Given the description of an element on the screen output the (x, y) to click on. 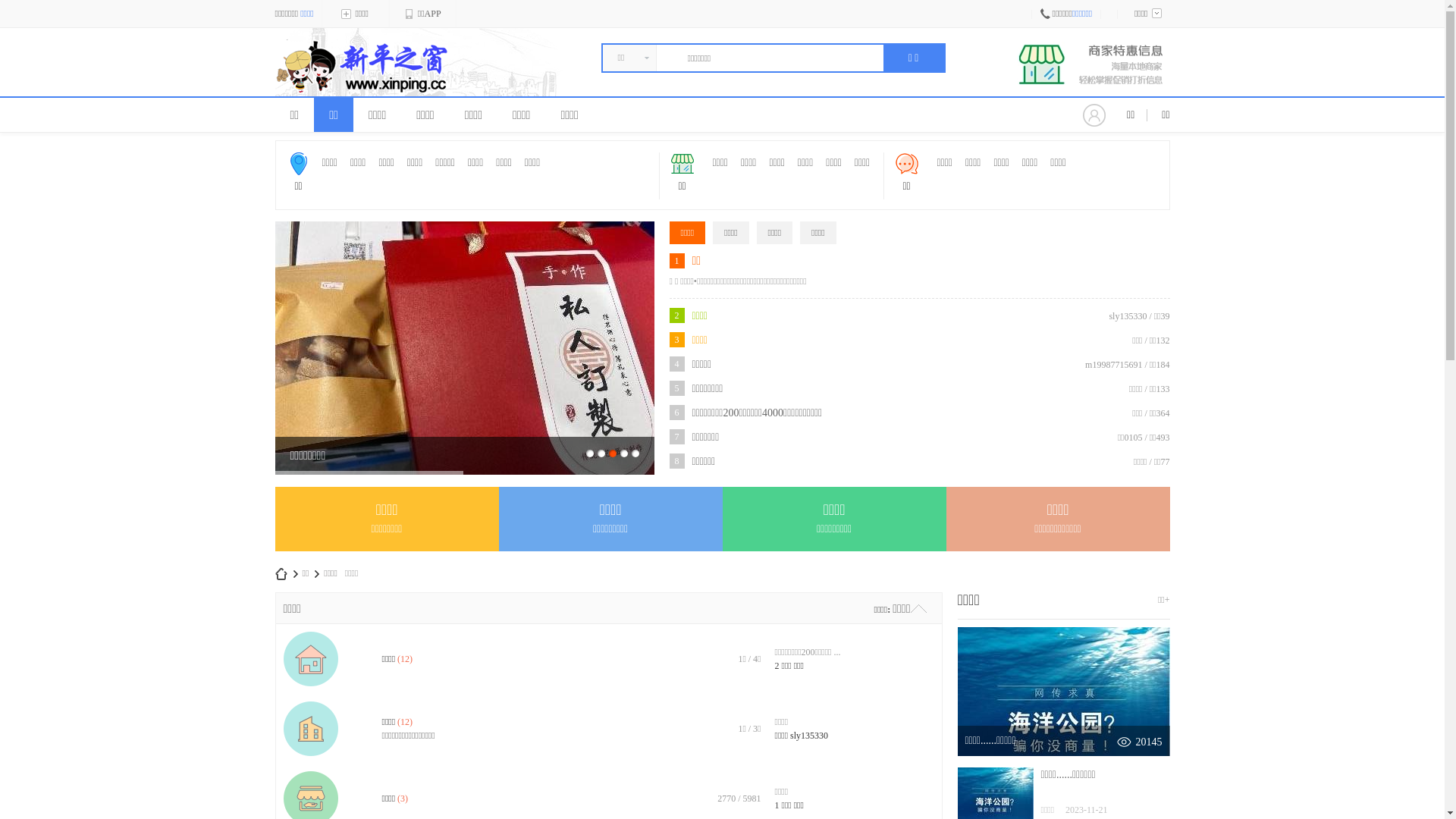
3 Element type: text (611, 453)
5 Element type: text (634, 453)
1 Element type: text (589, 453)
4 Element type: text (623, 453)
sly135330 Element type: text (809, 735)
2 Element type: text (601, 453)
